Given the description of an element on the screen output the (x, y) to click on. 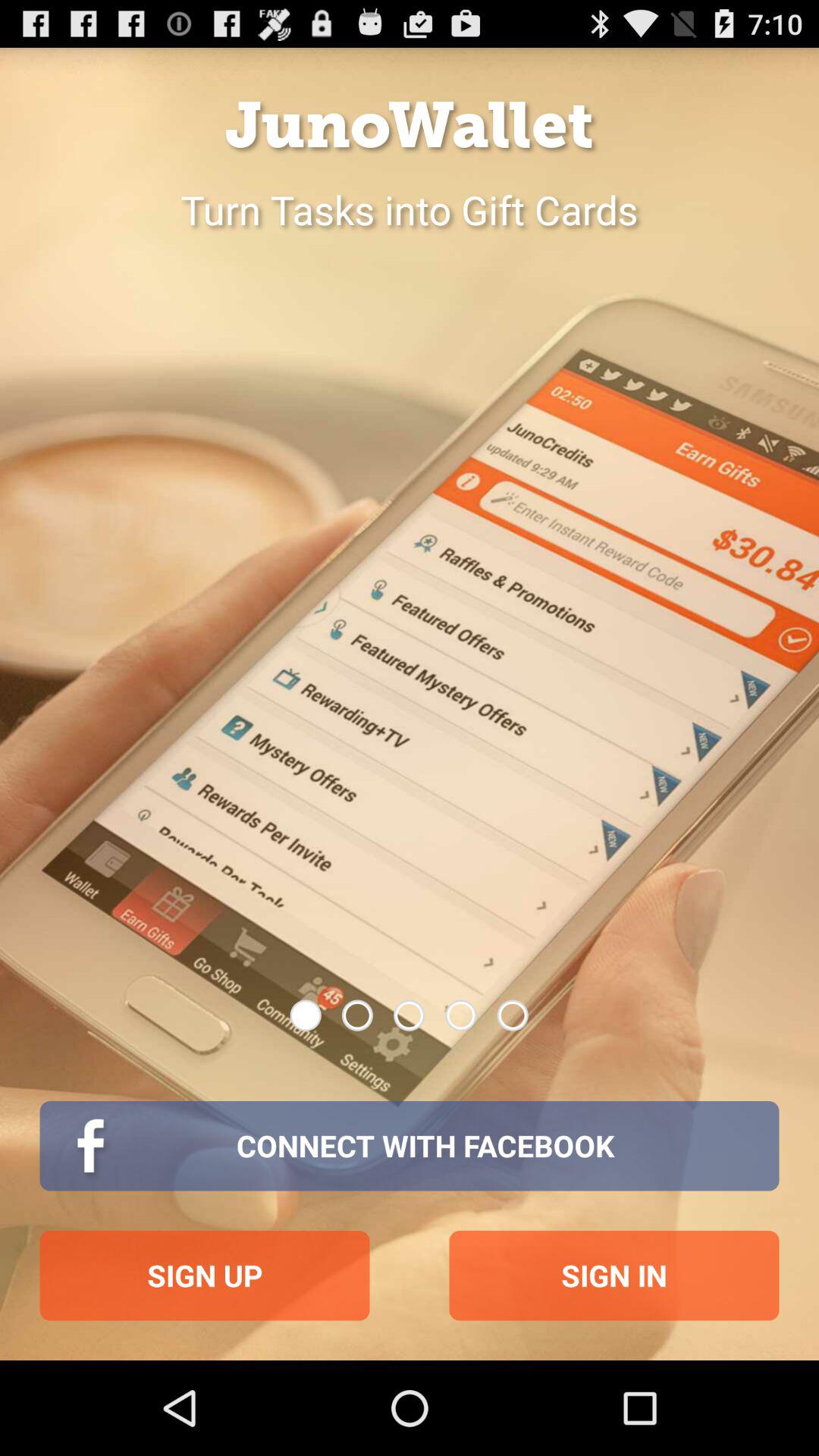
tap the icon next to the sign in icon (204, 1275)
